Given the description of an element on the screen output the (x, y) to click on. 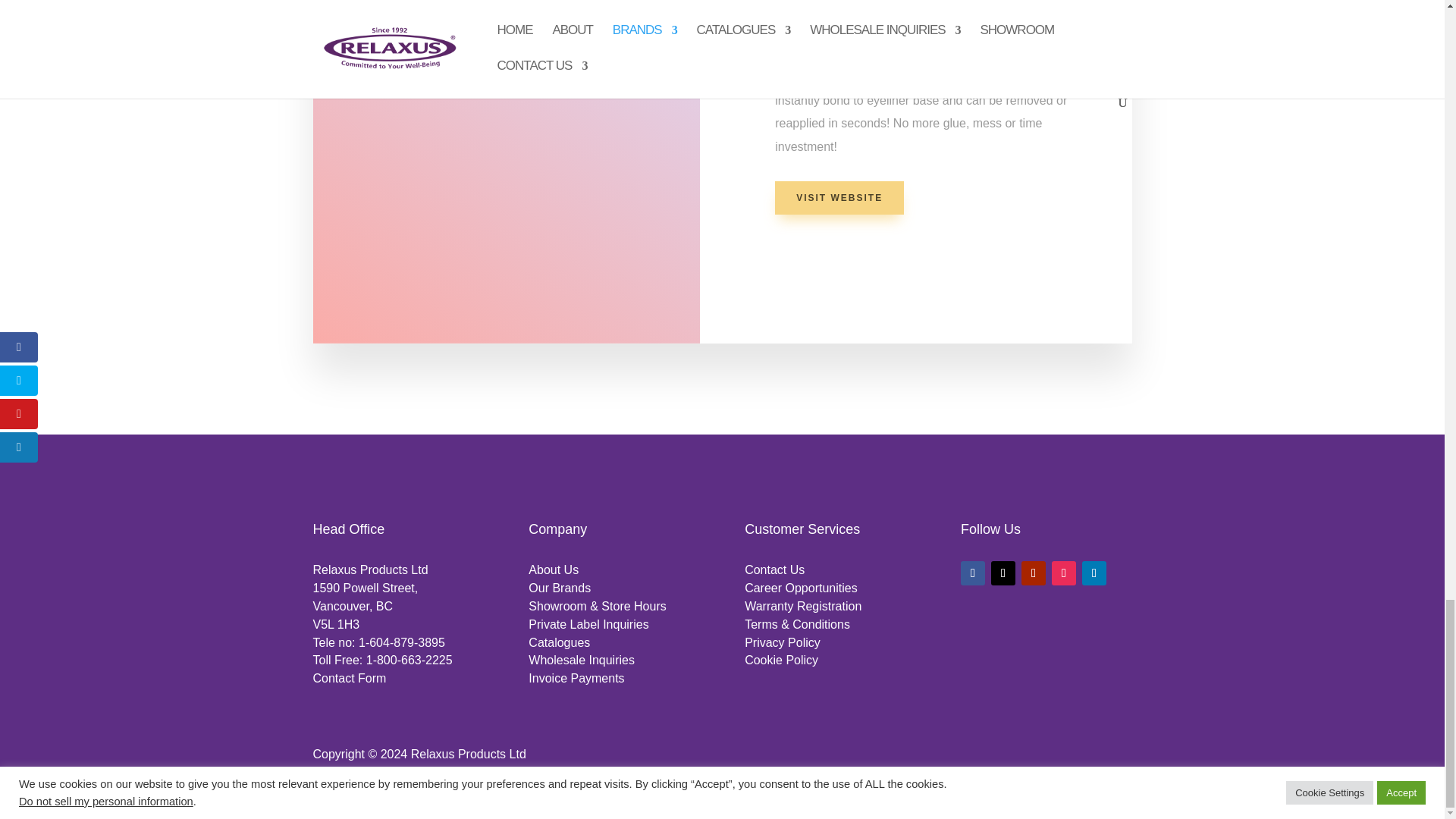
Follow on Facebook (972, 573)
Follow on X (1002, 573)
Follow on LinkedIn (1093, 573)
Follow on Youtube (1033, 573)
Follow on Instagram (1063, 573)
